Given the description of an element on the screen output the (x, y) to click on. 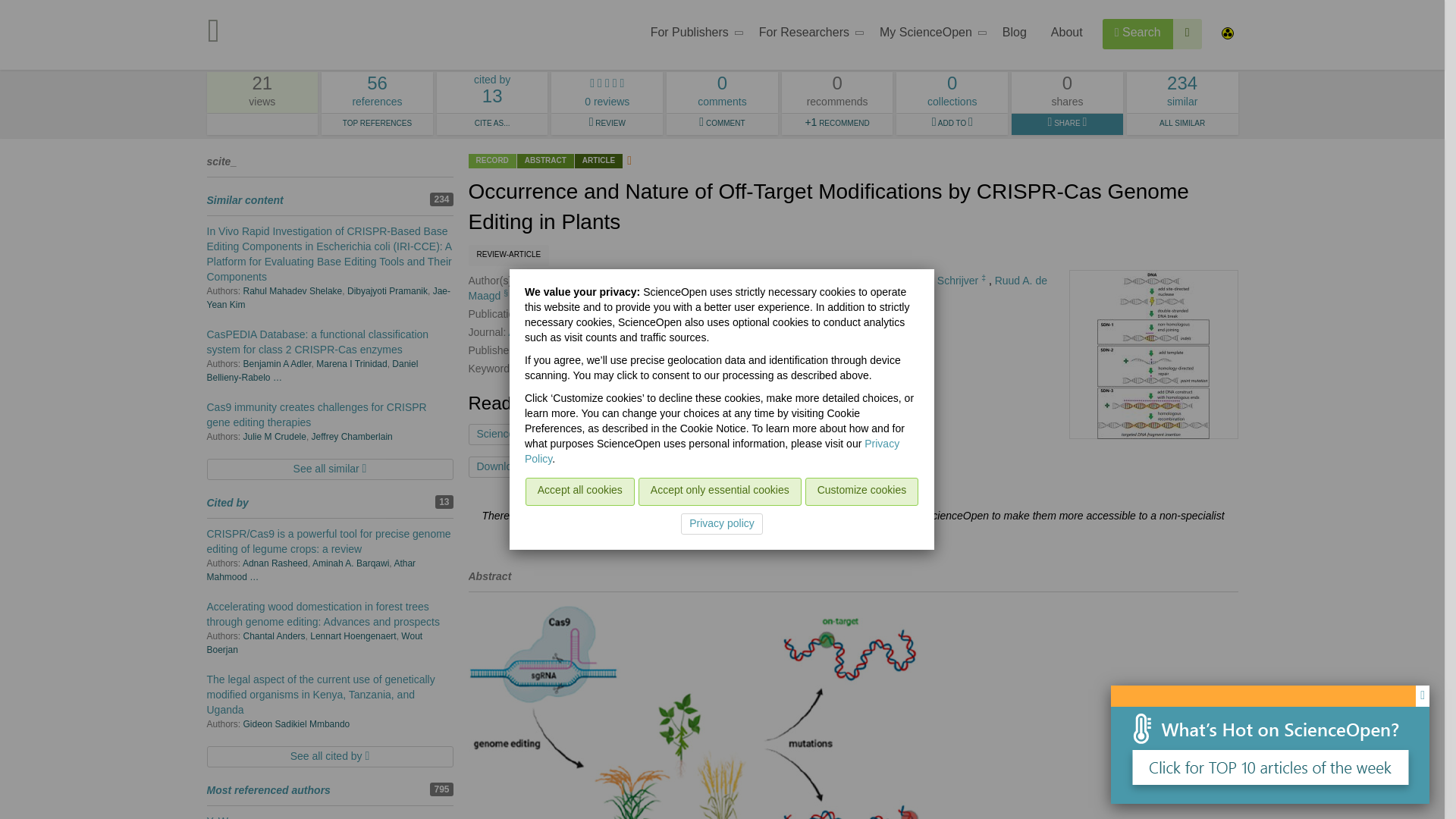
For Researchers (806, 34)
TOP REFERENCES (376, 124)
For Publishers (692, 34)
Bookmark (647, 466)
Search (376, 92)
My ScienceOpen (1137, 33)
Advanced search (928, 34)
